Given the description of an element on the screen output the (x, y) to click on. 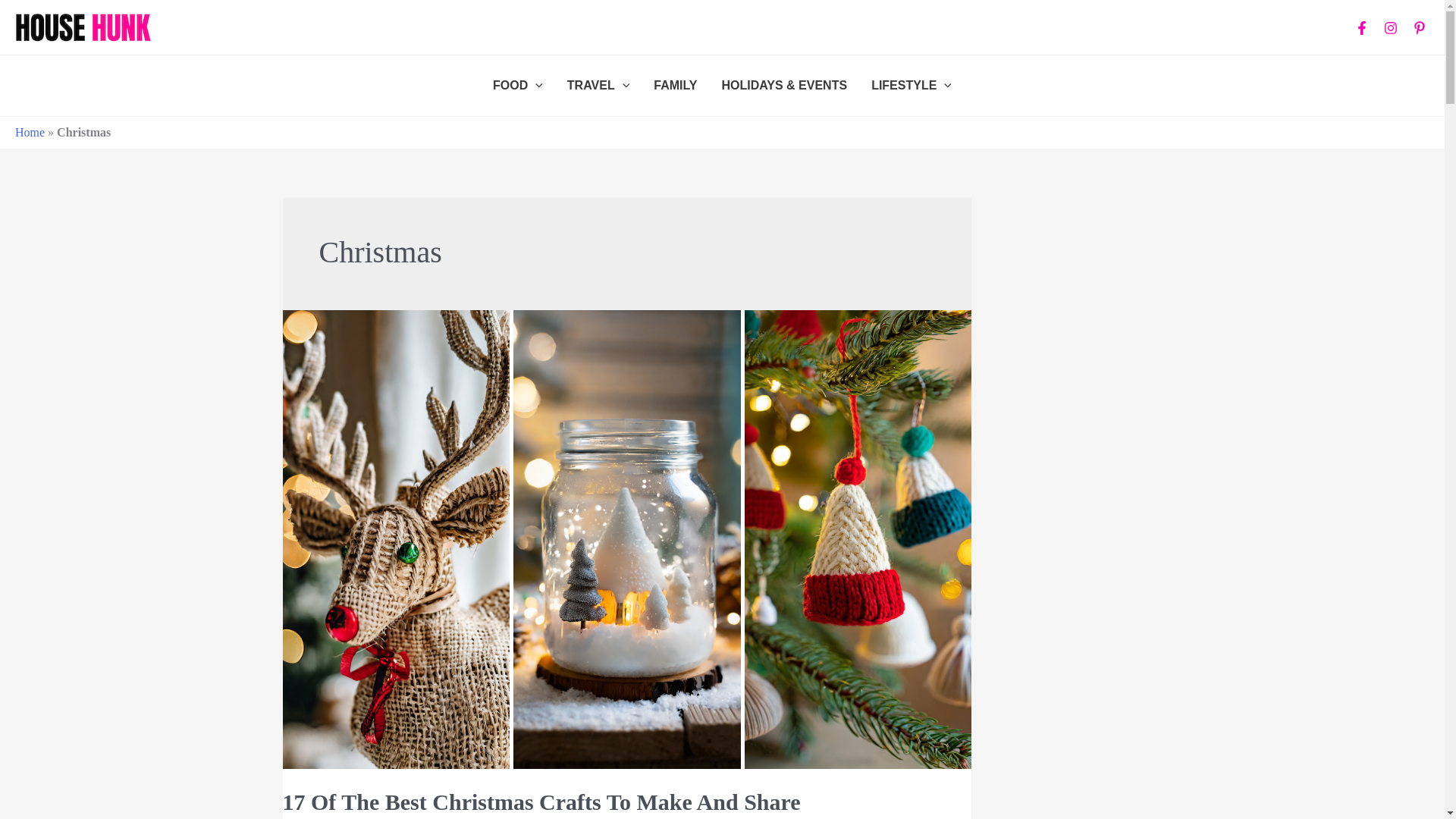
TRAVEL (598, 85)
Home (29, 132)
LIFESTYLE (911, 85)
FAMILY (675, 85)
FOOD (517, 85)
